Given the description of an element on the screen output the (x, y) to click on. 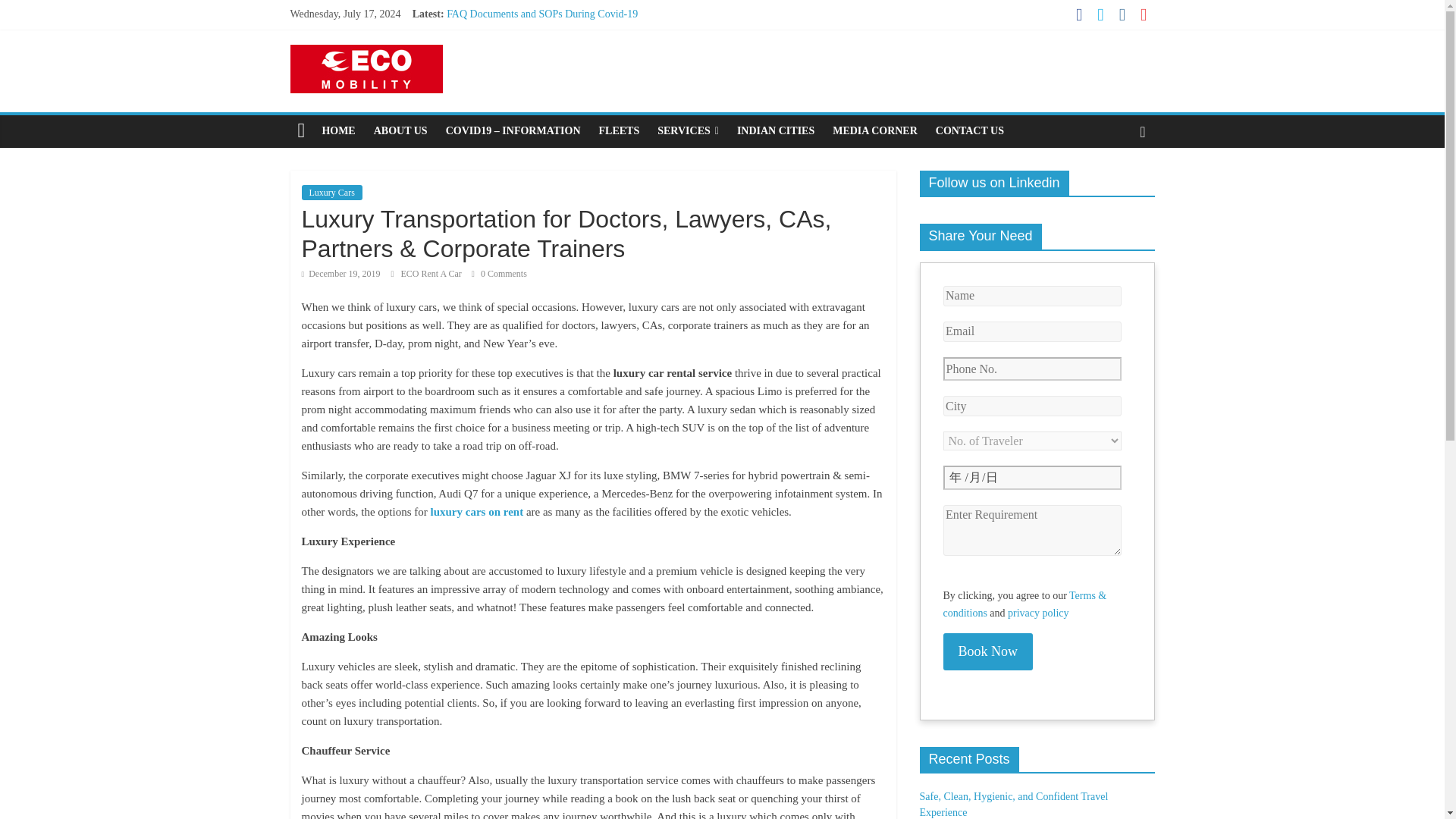
Eco Mobility redefines Car Rentals in the Post Covid World (573, 48)
ECO Rent A Car (431, 273)
Luxury Cars (331, 192)
FAQ Documents and SOPs During Covid-19 (541, 13)
Safe, Clean, Hygienic, and Confident Travel Experience (565, 30)
HOME (338, 131)
Blog Homepage (338, 131)
Safe, Clean, Hygienic, and Confident Travel Experience (565, 30)
FAQ Documents and SOPs During Covid-19 (541, 13)
Eco Rent A Car Blog (301, 131)
FLEETS (619, 131)
luxury cars on rent (475, 511)
View a random post (1142, 131)
